Given the description of an element on the screen output the (x, y) to click on. 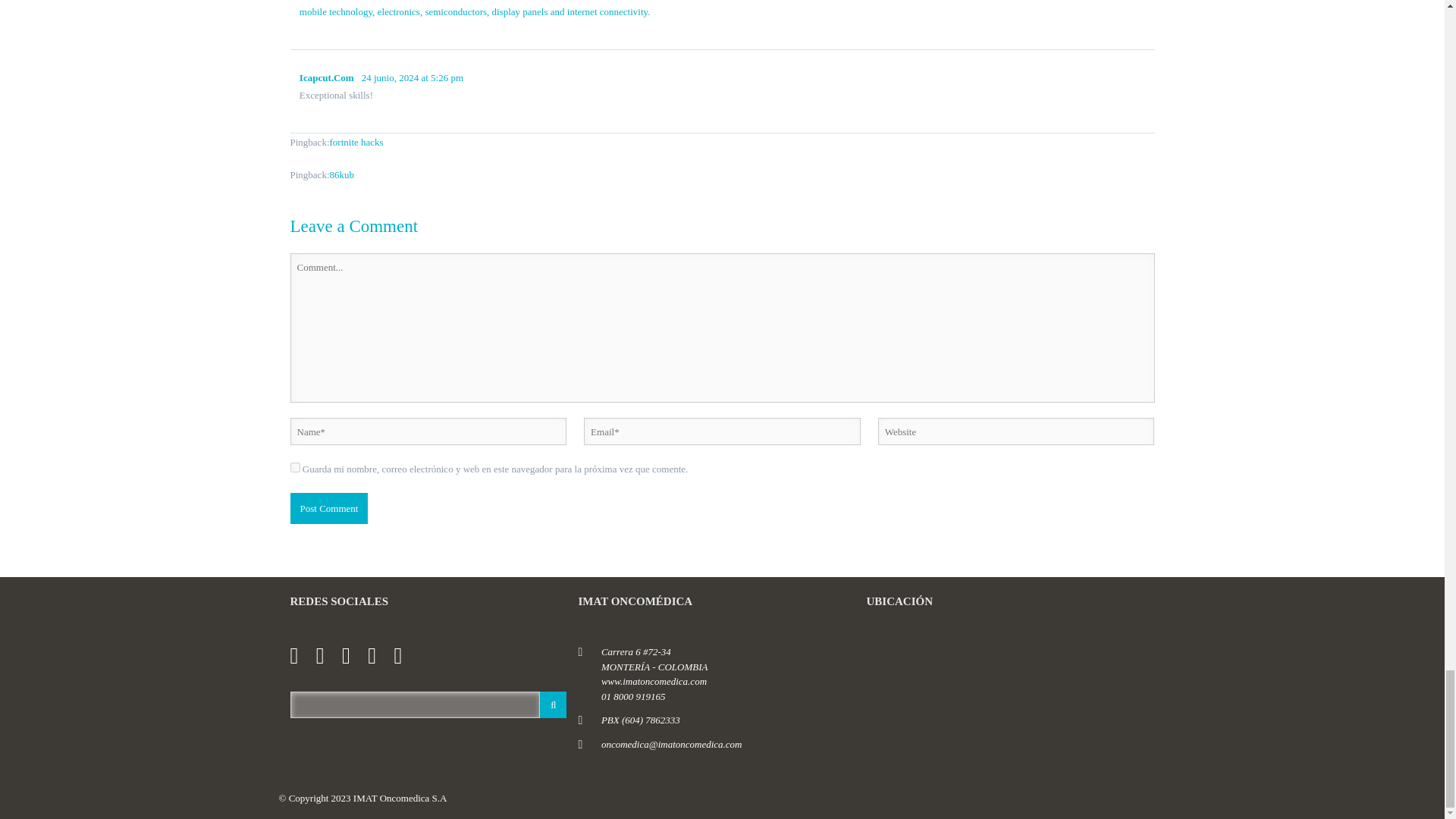
Instagram (404, 655)
Twitter (319, 655)
Youtube (379, 655)
Youtube (371, 655)
Linkedin (346, 655)
Facebook (293, 655)
Linkedin (353, 655)
Twitter (327, 655)
Facebook (301, 655)
Post Comment (328, 508)
yes (294, 467)
